Given the description of an element on the screen output the (x, y) to click on. 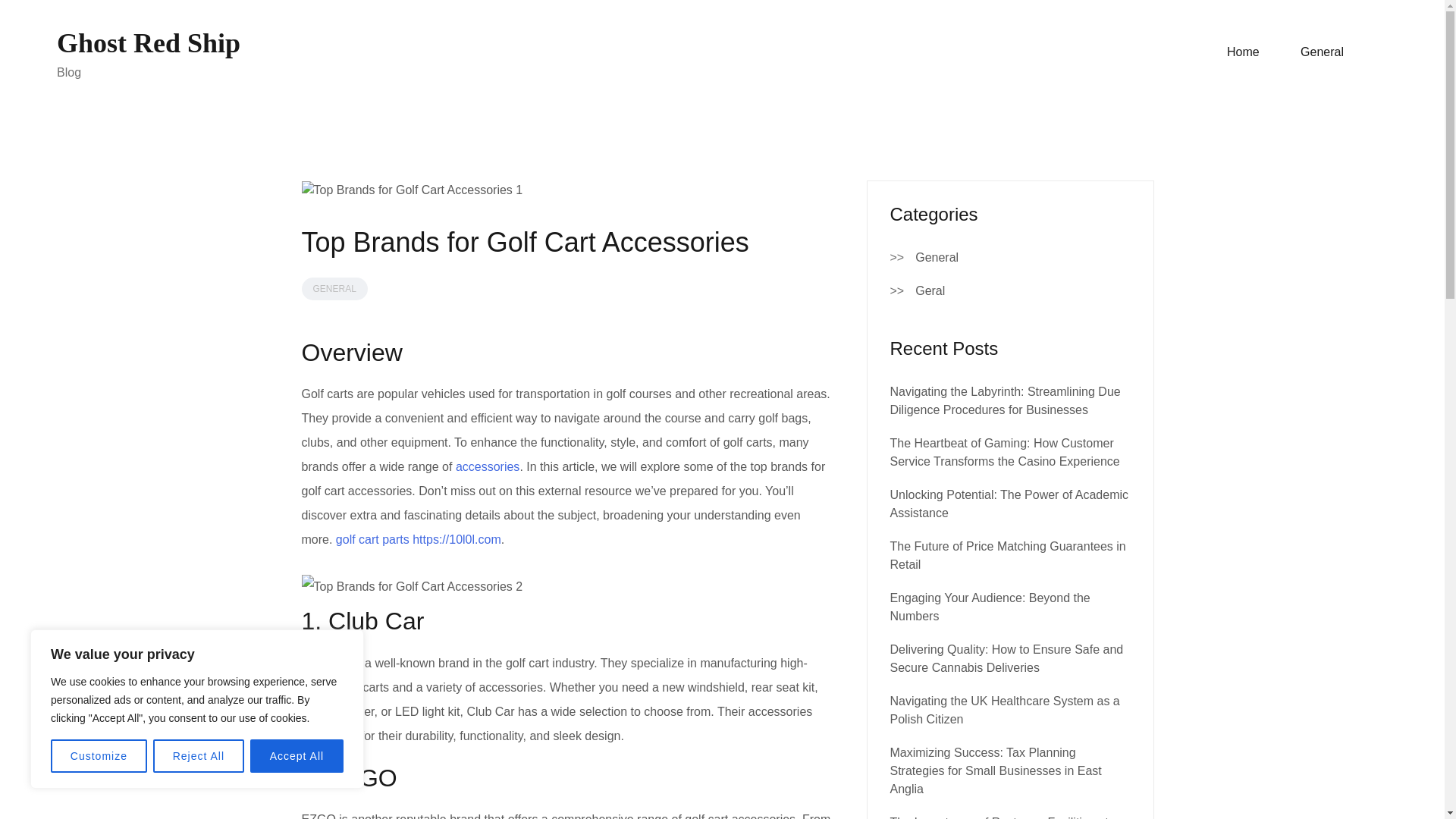
General (936, 257)
accessories (487, 466)
Ghost Red Ship (148, 42)
Customize (98, 756)
GENERAL (334, 288)
Unlocking Potential: The Power of Academic Assistance (1009, 503)
Reject All (198, 756)
The Future of Price Matching Guarantees in Retail (1007, 554)
